Given the description of an element on the screen output the (x, y) to click on. 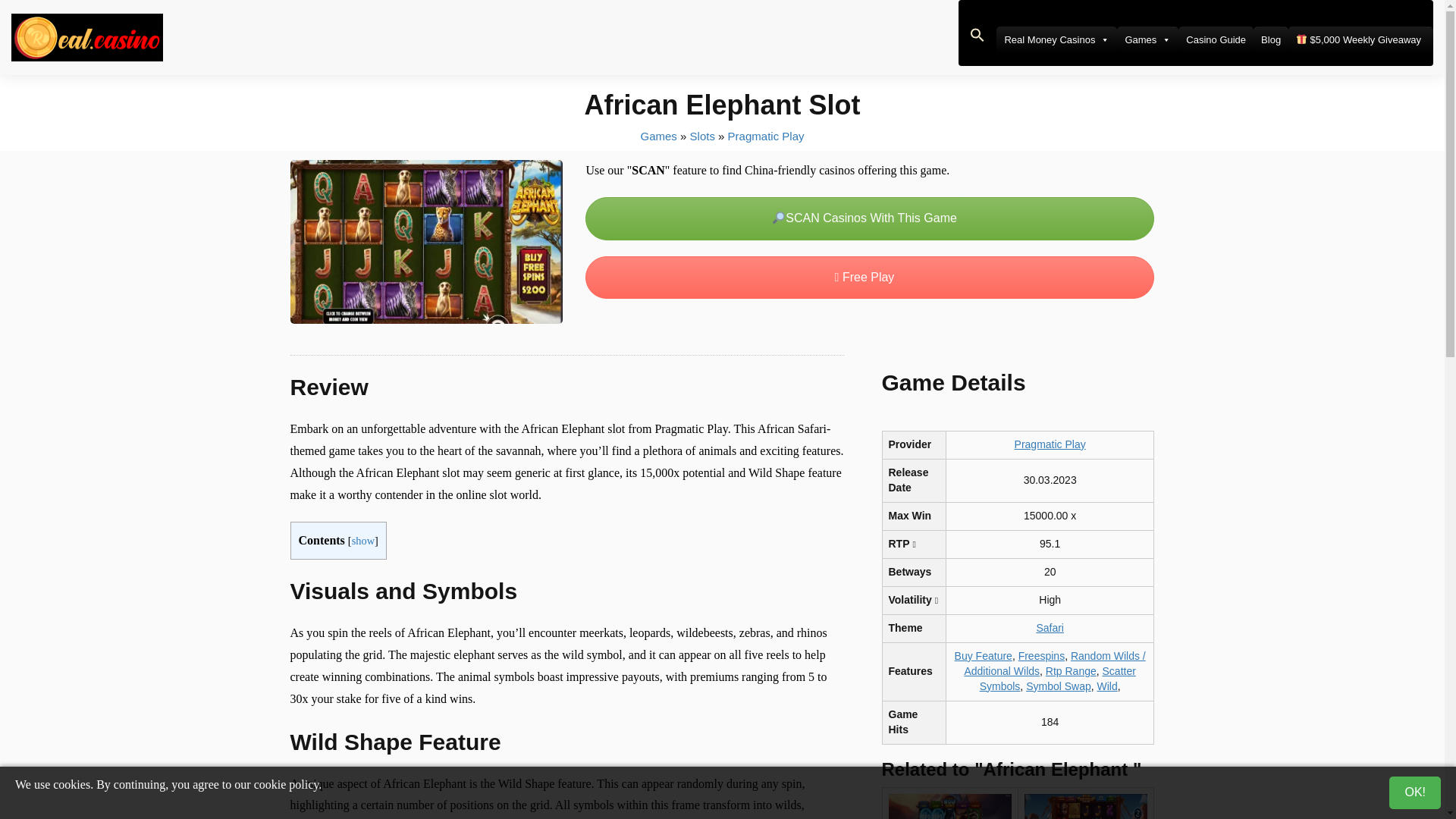
Real Money Casinos (1055, 39)
Pragmatic Play Slots (766, 135)
Online Casino Games (658, 135)
Games (1146, 39)
Online Slots (702, 135)
